Given the description of an element on the screen output the (x, y) to click on. 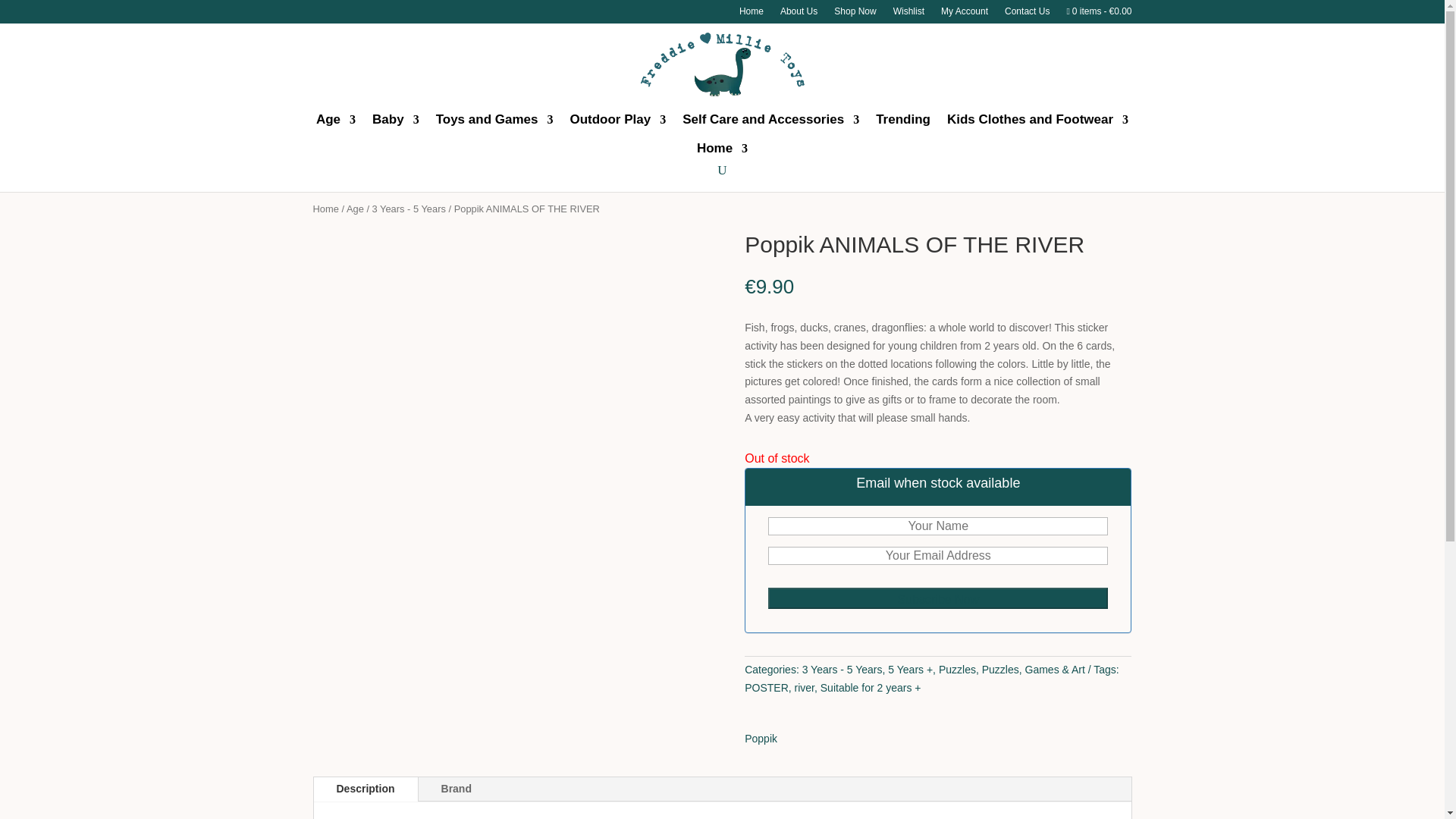
Wishlist (908, 14)
Subscribe Now (938, 598)
My Account (964, 14)
Home (750, 14)
About Us (798, 14)
Toys and Games (494, 119)
Start shopping (1098, 14)
Shop Now (855, 14)
Outdoor Play (617, 119)
Baby (395, 119)
